Given the description of an element on the screen output the (x, y) to click on. 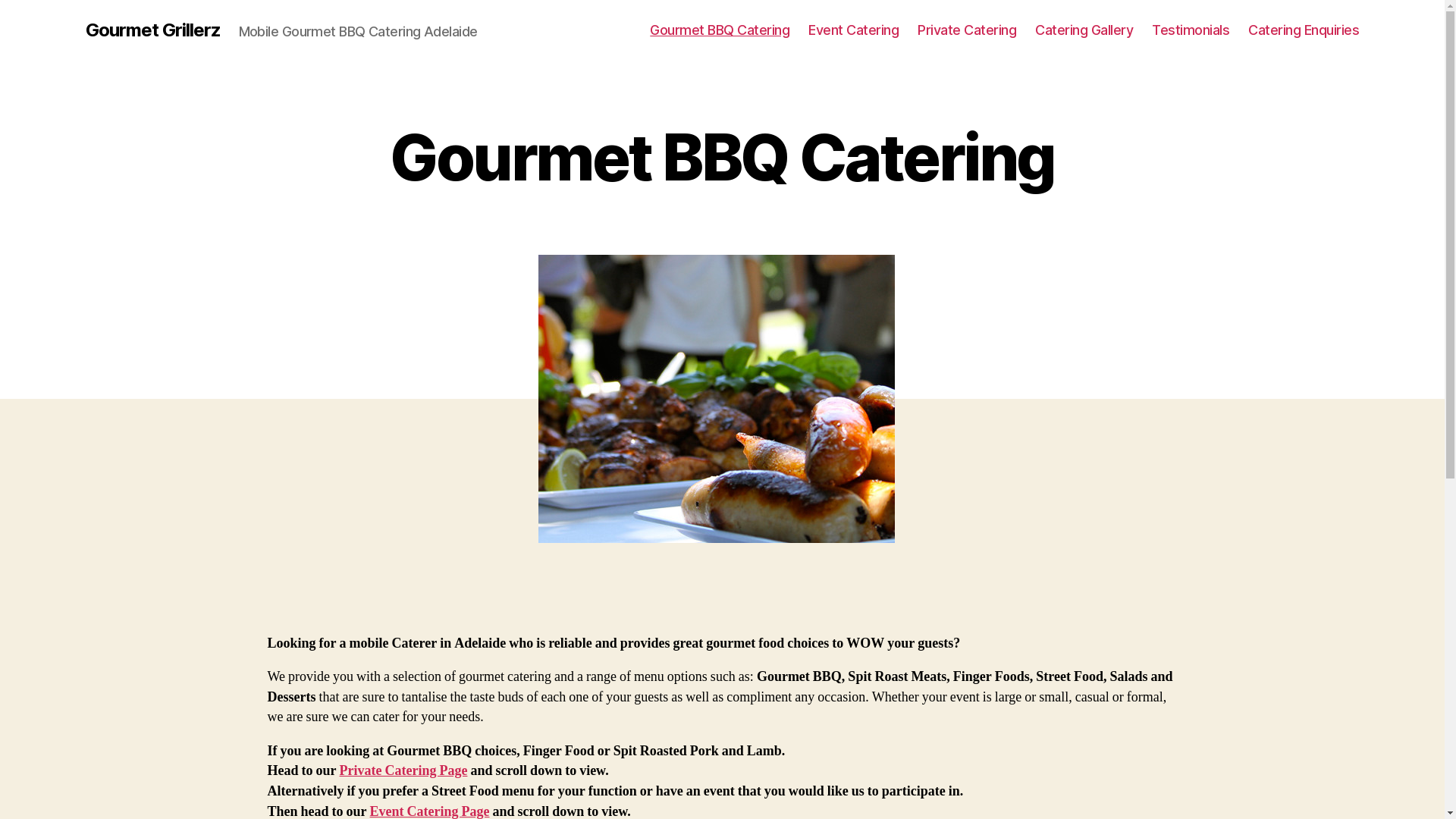
Catering Gallery Element type: text (1083, 29)
Private Catering Page Element type: text (403, 770)
Event Catering Element type: text (853, 29)
Gourmet BBQ Catering Element type: text (719, 29)
Catering Enquiries Element type: text (1303, 29)
Gourmet Grillerz Element type: text (151, 30)
Private Catering Element type: text (966, 29)
Testimonials Element type: text (1190, 29)
